Given the description of an element on the screen output the (x, y) to click on. 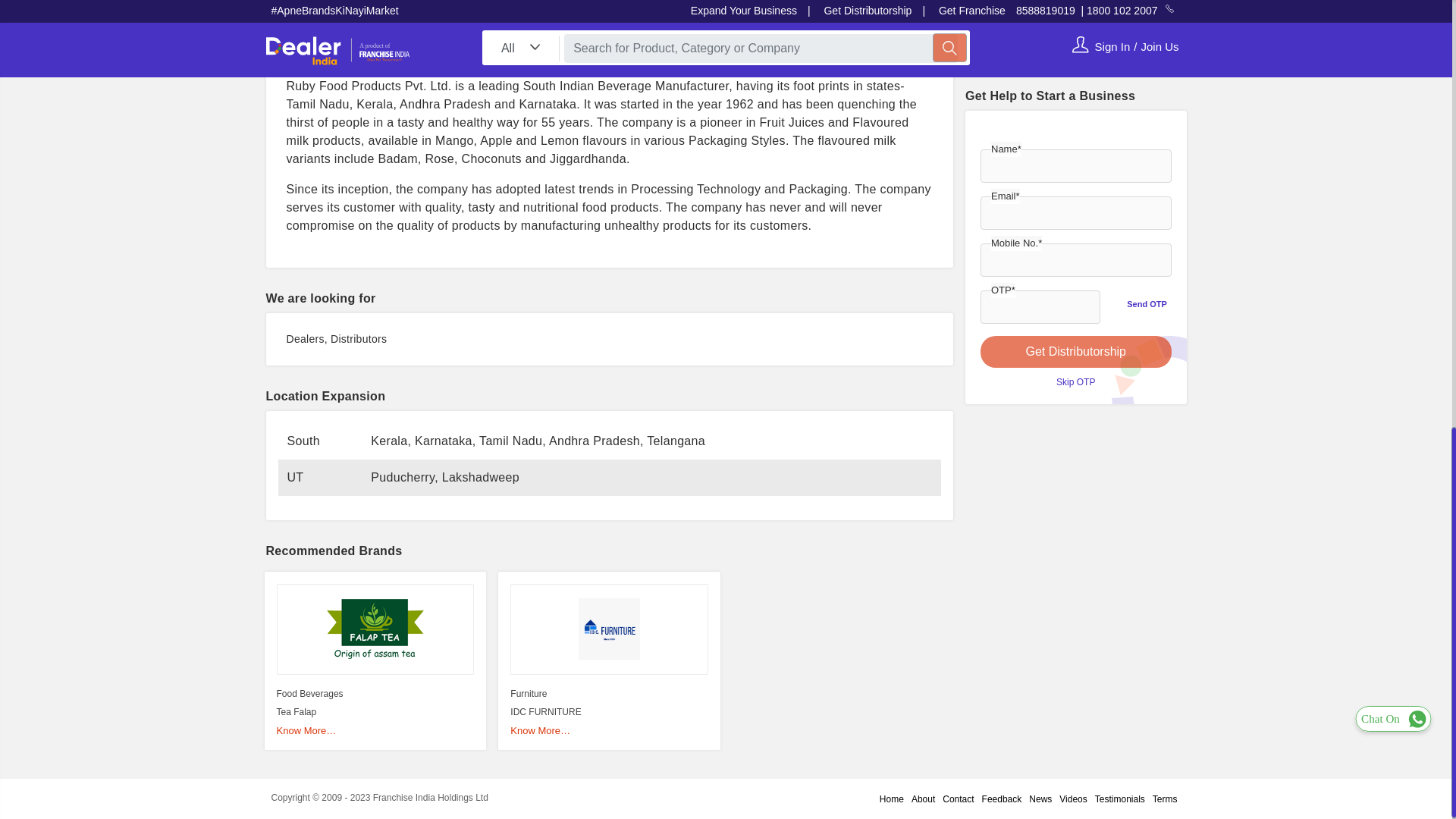
Get Distributorship (1075, 198)
Feedback (1002, 798)
Terms (1164, 798)
Videos (1072, 798)
About (923, 798)
Contact (957, 798)
Food Beverages (309, 693)
Tea Falap (295, 711)
News (1040, 798)
Testimonials (1119, 798)
Furniture (529, 693)
Home (891, 798)
IDC FURNITURE (545, 711)
